Given the description of an element on the screen output the (x, y) to click on. 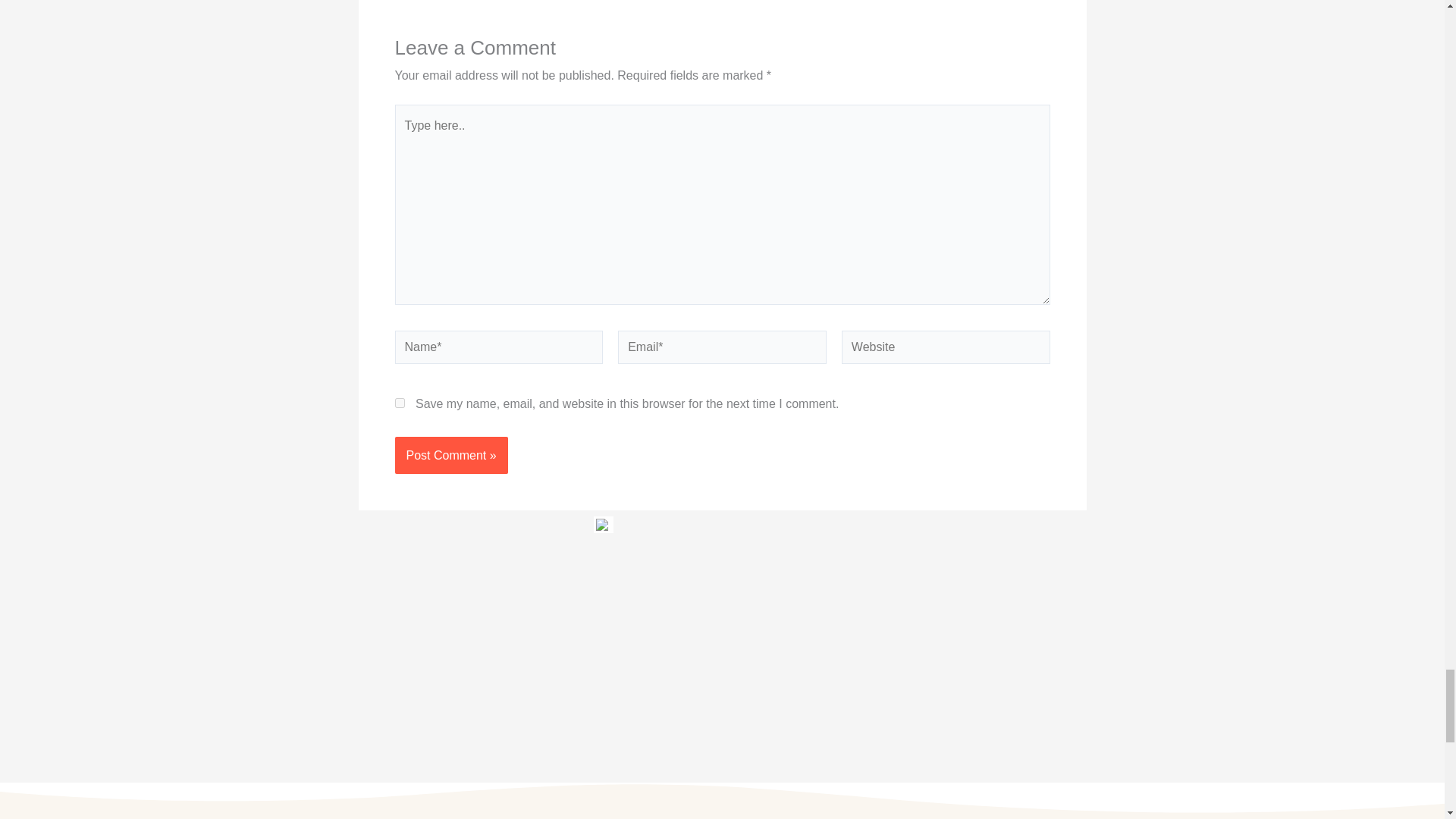
yes (399, 402)
